Given the description of an element on the screen output the (x, y) to click on. 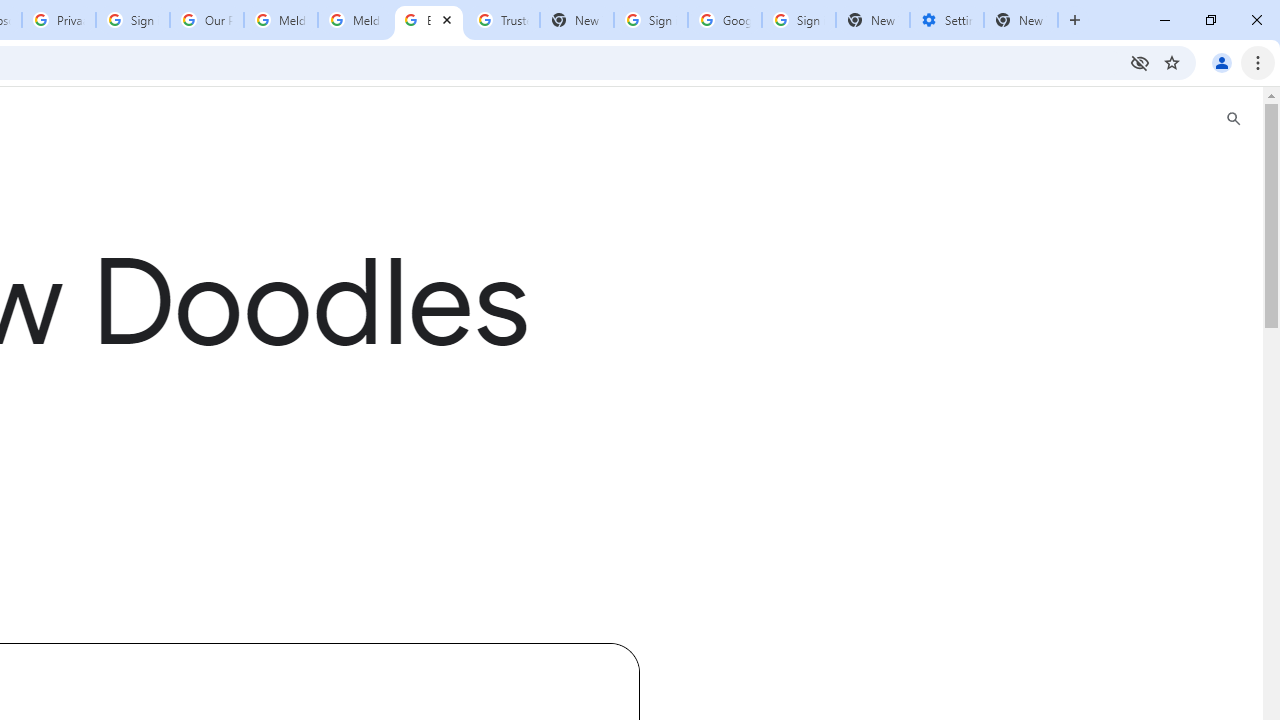
Search (1233, 119)
